Given the description of an element on the screen output the (x, y) to click on. 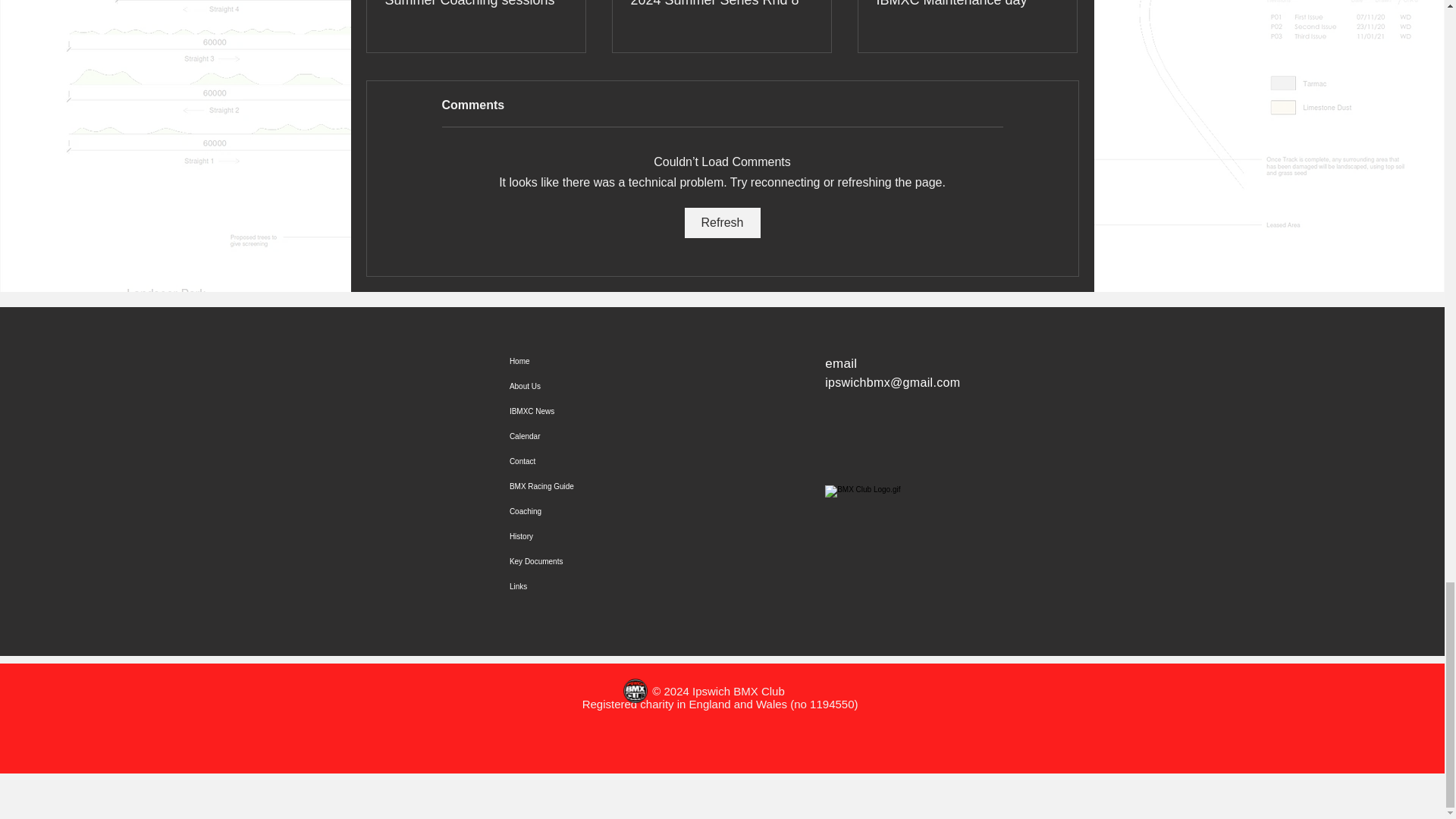
Links (574, 586)
About Us (574, 385)
2024 Summer Series Rnd 8 (721, 4)
Contact (574, 461)
BMX Racing Guide (574, 486)
Refresh (722, 223)
Key Documents (574, 561)
Coaching (574, 511)
IBMXC Maintenance day (967, 4)
Summer Coaching sessions (476, 4)
Home (574, 360)
IBMXC News (574, 411)
Calendar (574, 436)
History (574, 536)
